Given the description of an element on the screen output the (x, y) to click on. 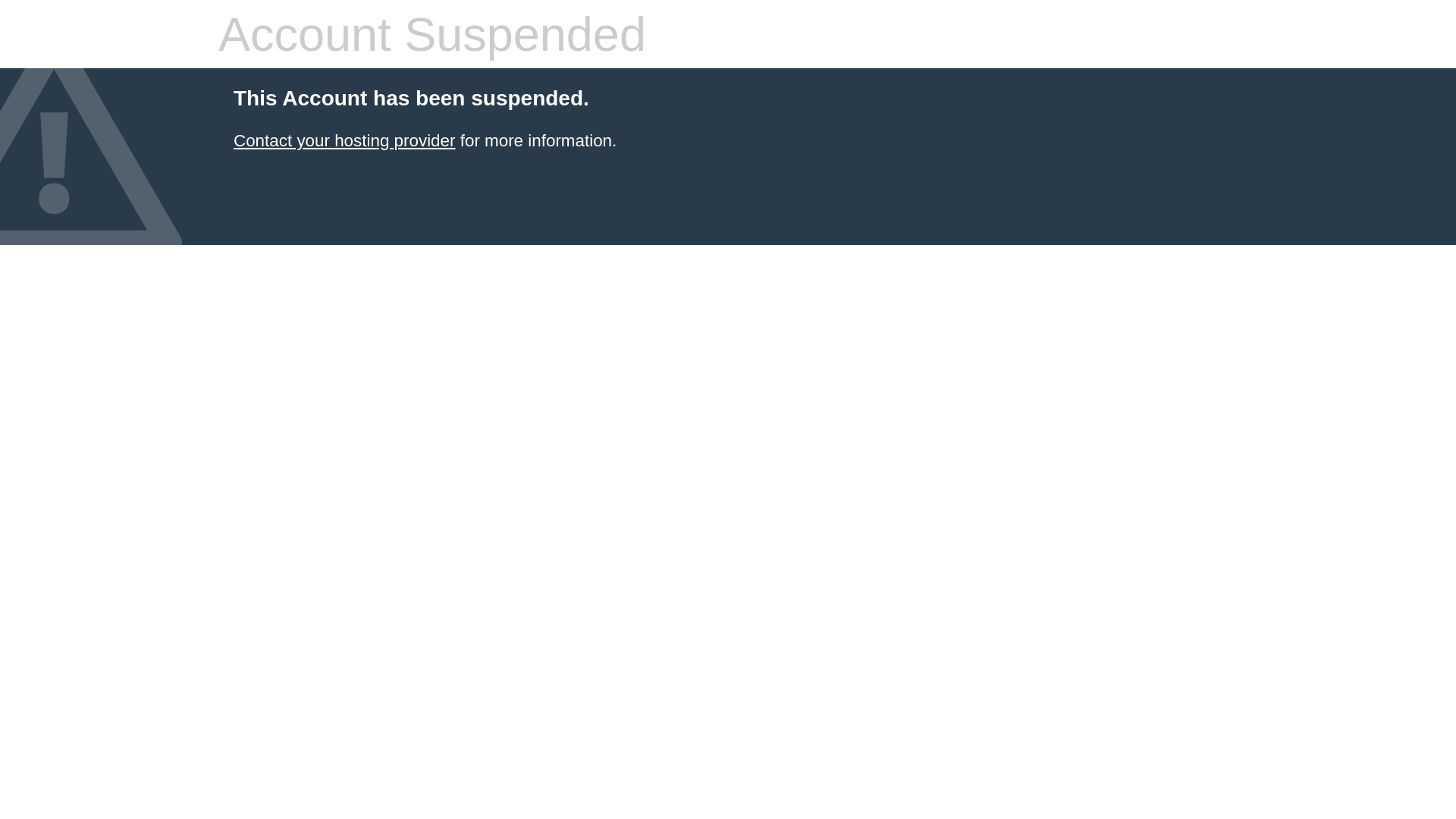
Contact your hosting provider Element type: text (344, 140)
